Given the description of an element on the screen output the (x, y) to click on. 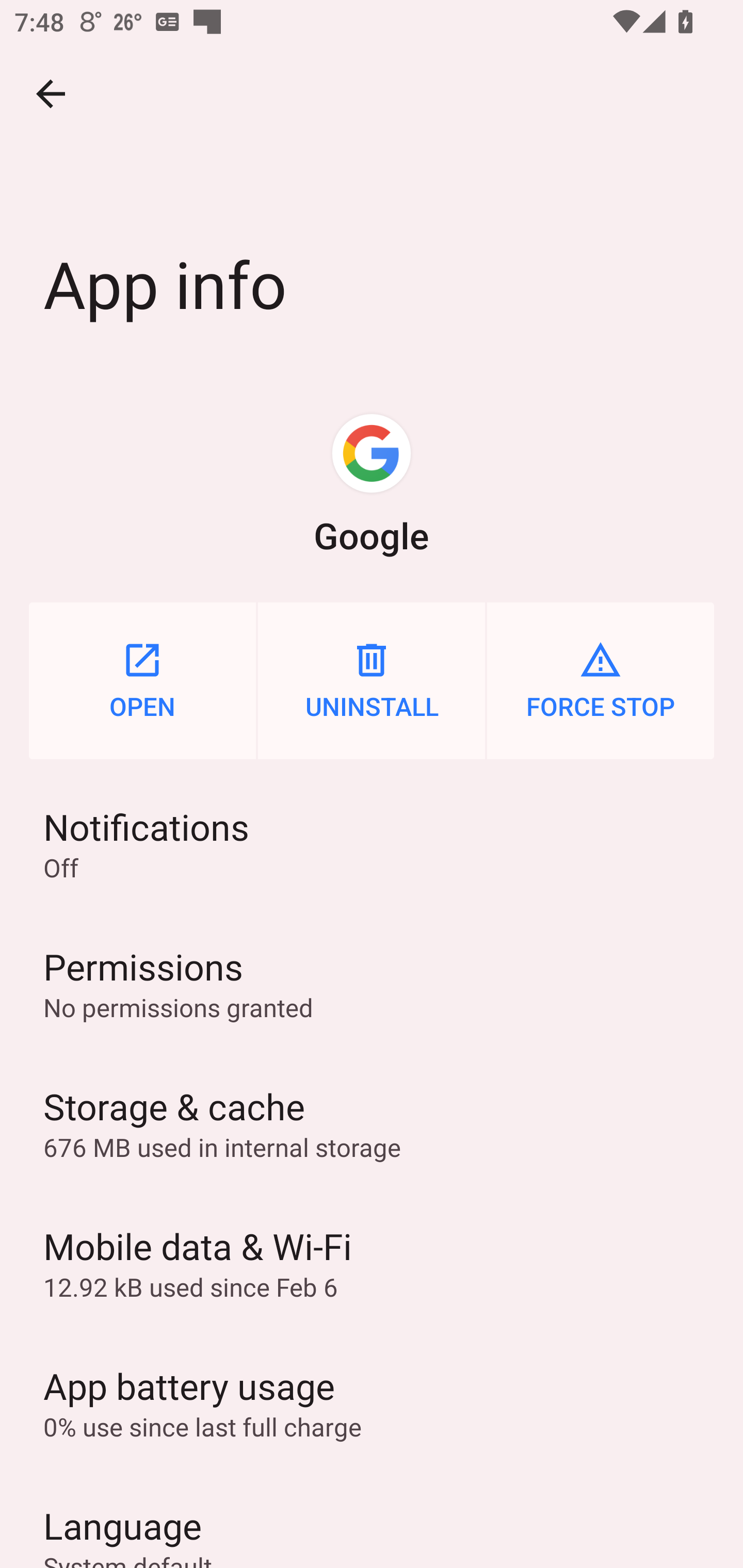
Navigate up (50, 93)
OPEN (141, 680)
UNINSTALL (371, 680)
FORCE STOP (600, 680)
Notifications Off (371, 843)
Permissions No permissions granted (371, 983)
Storage & cache 676 MB used in internal storage (371, 1123)
Mobile data & Wi‑Fi 12.92 kB used since Feb 6 (371, 1262)
App battery usage 0% use since last full charge (371, 1402)
Language System default (371, 1520)
